Given the description of an element on the screen output the (x, y) to click on. 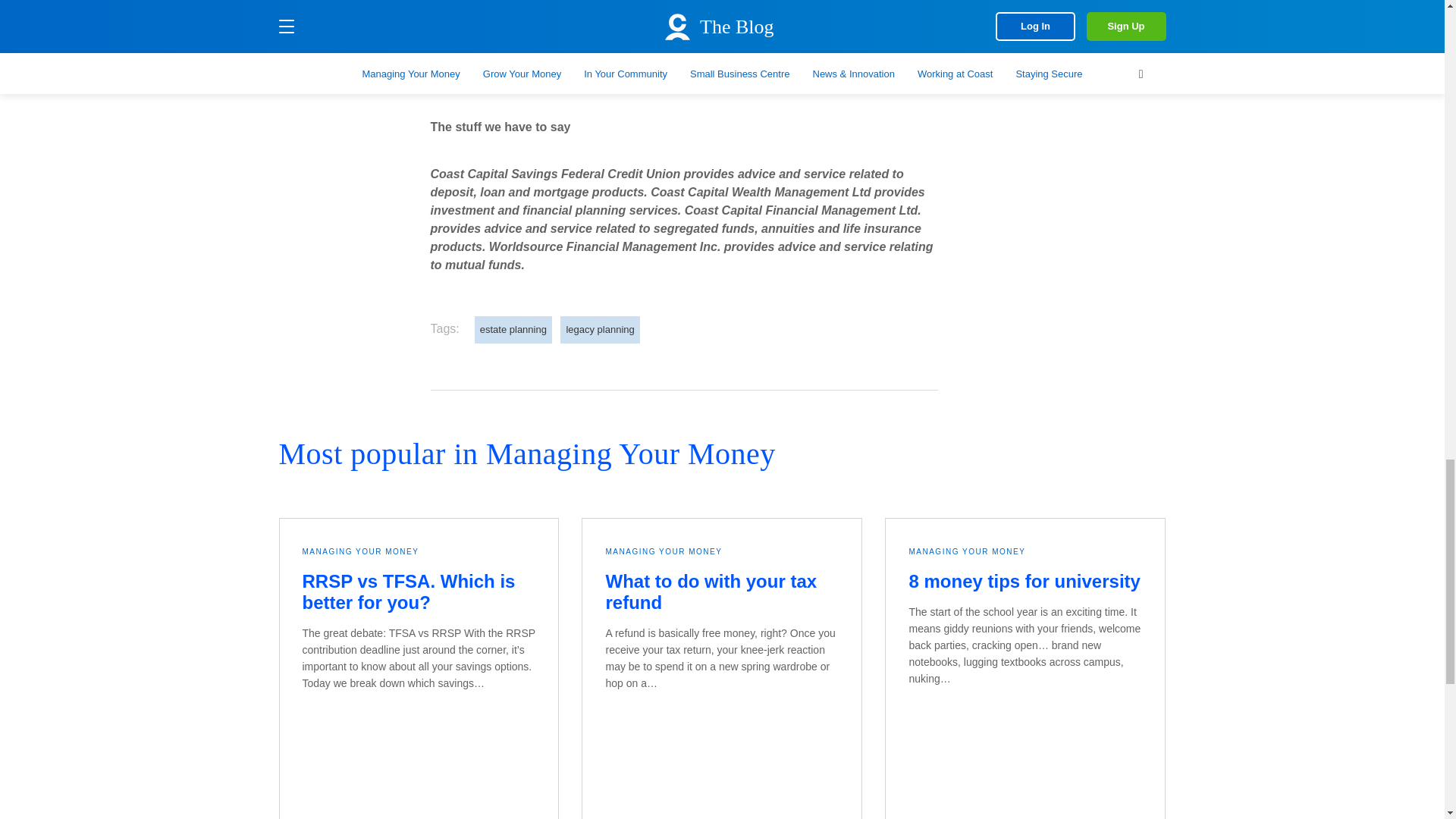
estate planning (512, 329)
legacy planning (599, 329)
MANAGING YOUR MONEY (360, 551)
RRSP vs TFSA. Which is better for you? (408, 591)
